Given the description of an element on the screen output the (x, y) to click on. 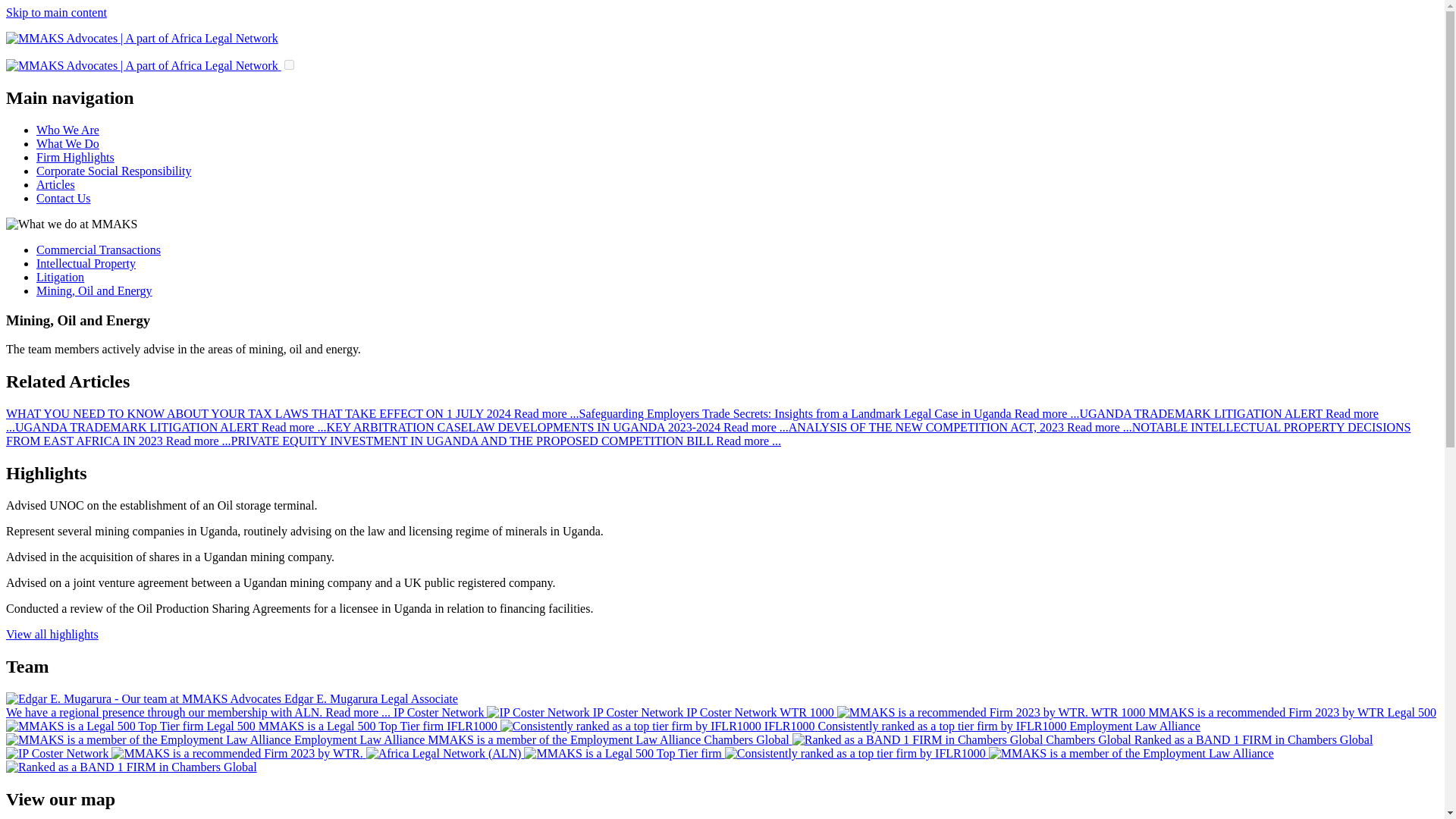
Litigation (60, 277)
Commercial Transactions - one of our practice areas at MMAKS (98, 249)
IP Coster Network IP Coster Network IP Coster Network (585, 712)
Go to home page (141, 38)
on (288, 64)
MMAKS is a recommended Firm 2023 by WTR (1082, 712)
Articles, news and updates by MMAKS Advocates (55, 184)
IP Coster Network (585, 712)
View all highlights (52, 634)
